Given the description of an element on the screen output the (x, y) to click on. 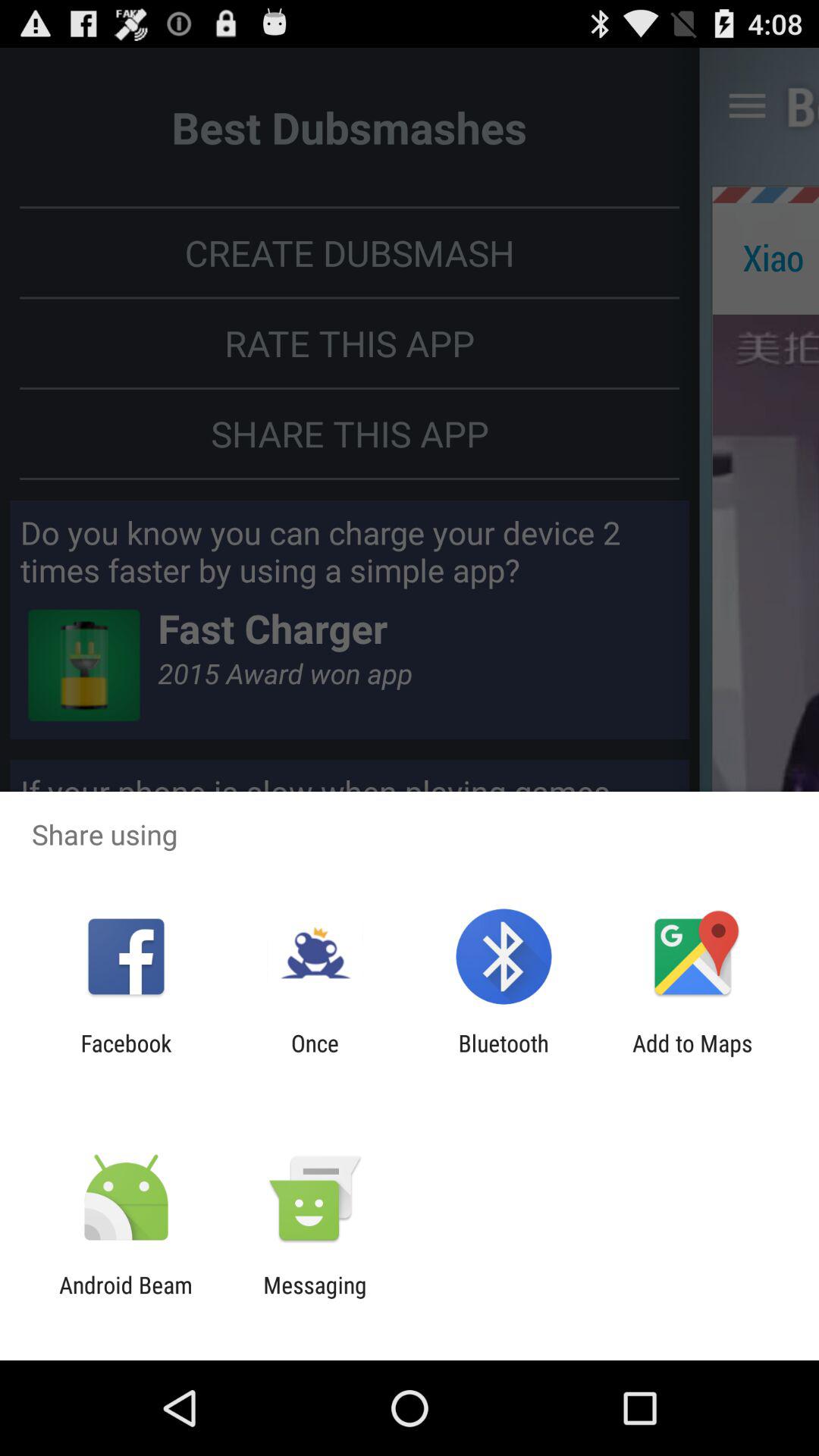
turn on the icon next to the bluetooth icon (692, 1056)
